Given the description of an element on the screen output the (x, y) to click on. 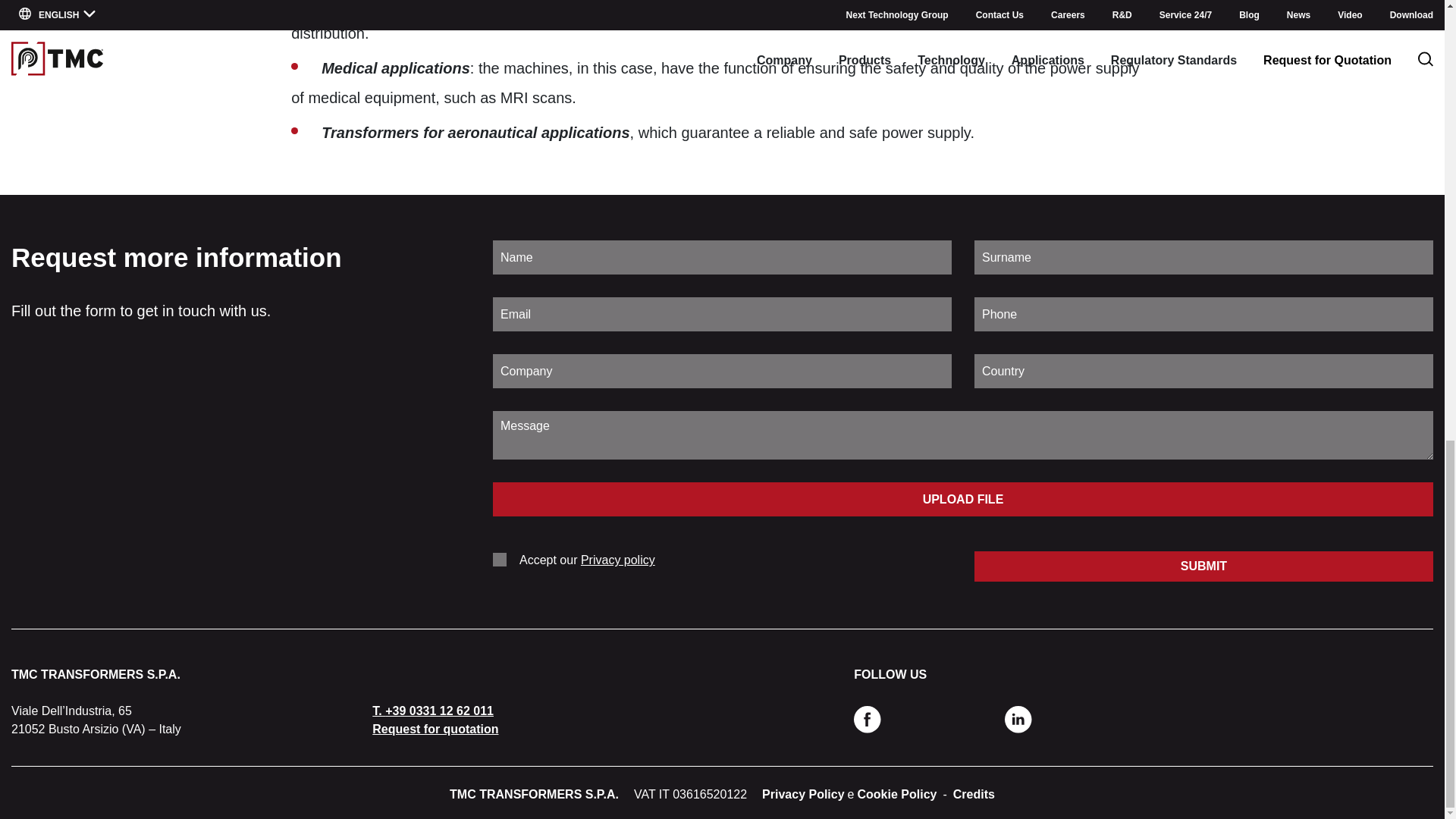
Privacy Policy (802, 794)
Privacy Policy  (617, 559)
Credits (973, 794)
Cookie Policy  (897, 794)
SUBMIT (1203, 566)
Request for quotation (434, 728)
Privacy Policy  (802, 794)
Cookie Policy (897, 794)
Privacy policy (617, 559)
